Given the description of an element on the screen output the (x, y) to click on. 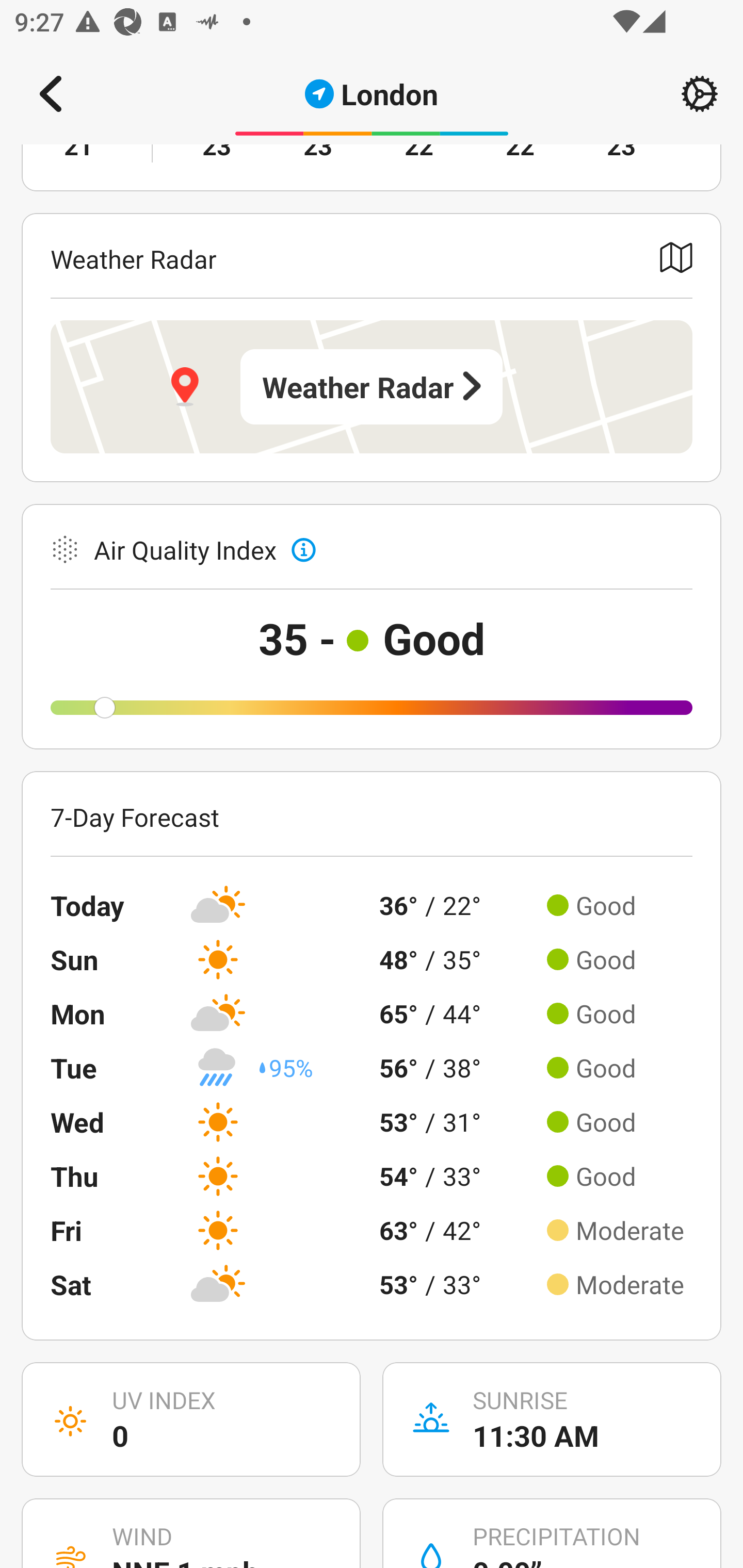
Navigate up (50, 93)
Setting (699, 93)
Weather Radar (371, 386)
